Given the description of an element on the screen output the (x, y) to click on. 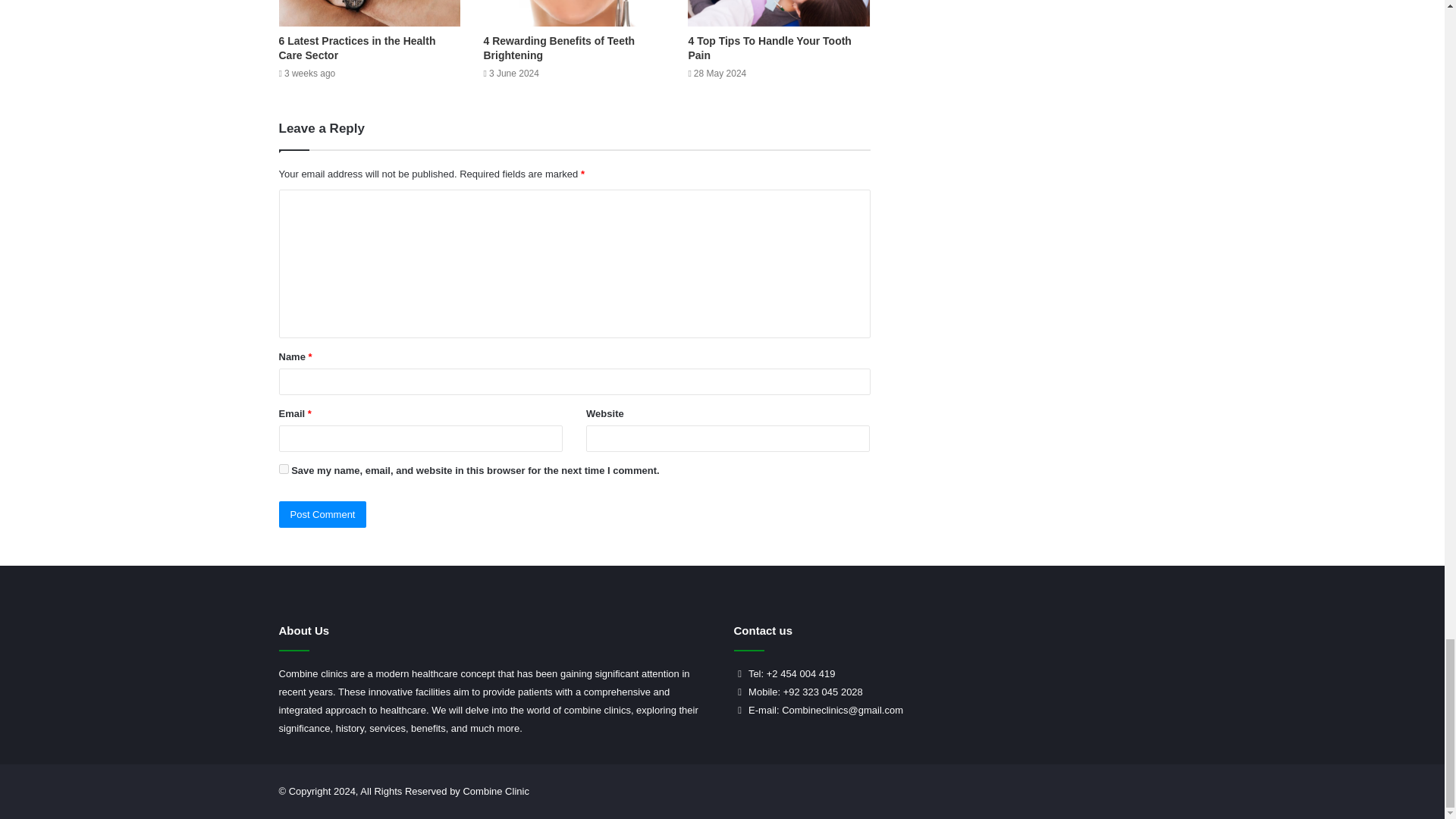
Post Comment (322, 514)
yes (283, 469)
